Given the description of an element on the screen output the (x, y) to click on. 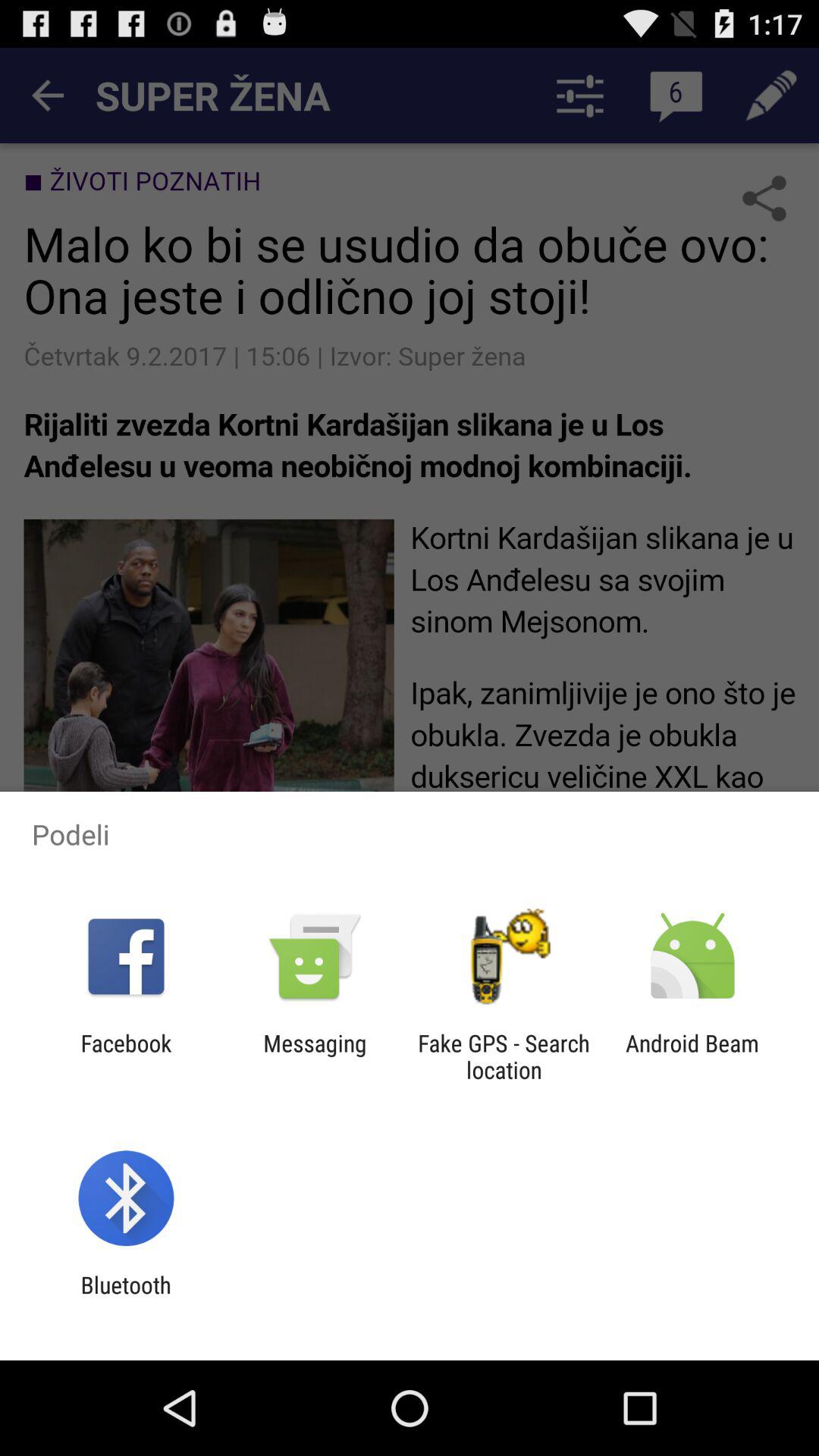
open icon next to the fake gps search app (692, 1056)
